Given the description of an element on the screen output the (x, y) to click on. 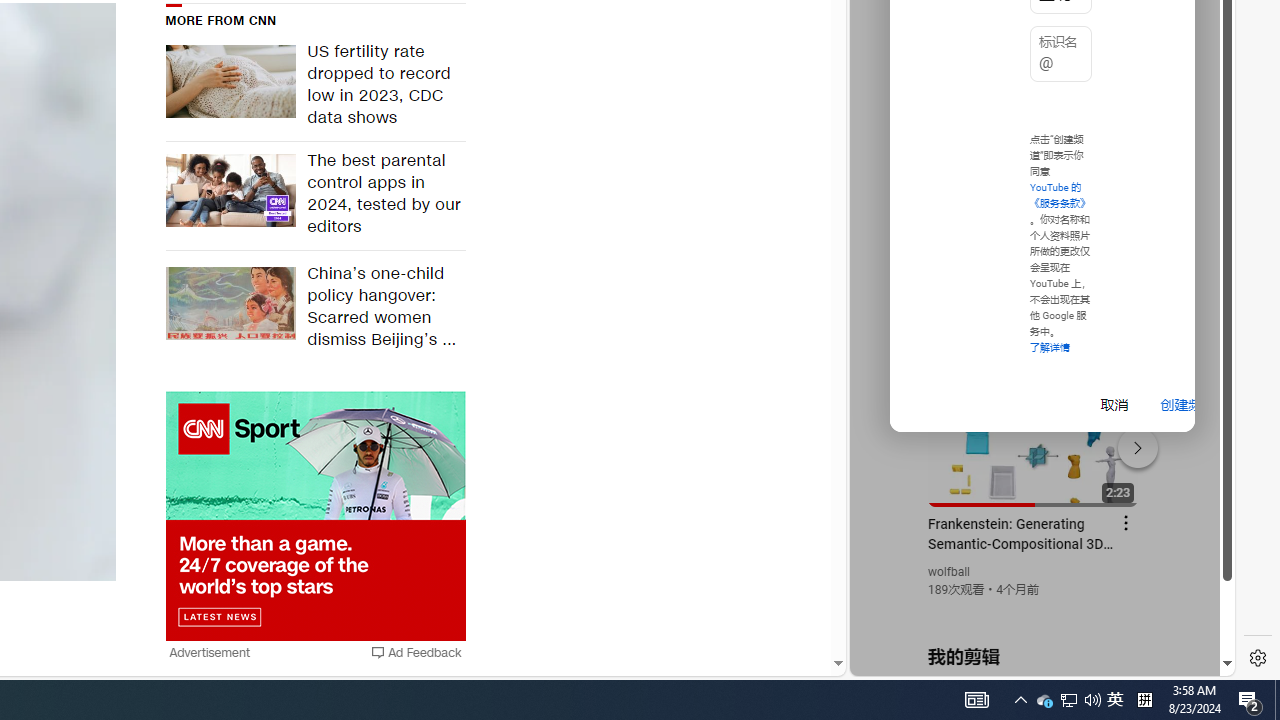
Click to scroll right (1196, 83)
Class: dict_pnIcon rms_img (1028, 660)
YouTube (1034, 432)
